Given the description of an element on the screen output the (x, y) to click on. 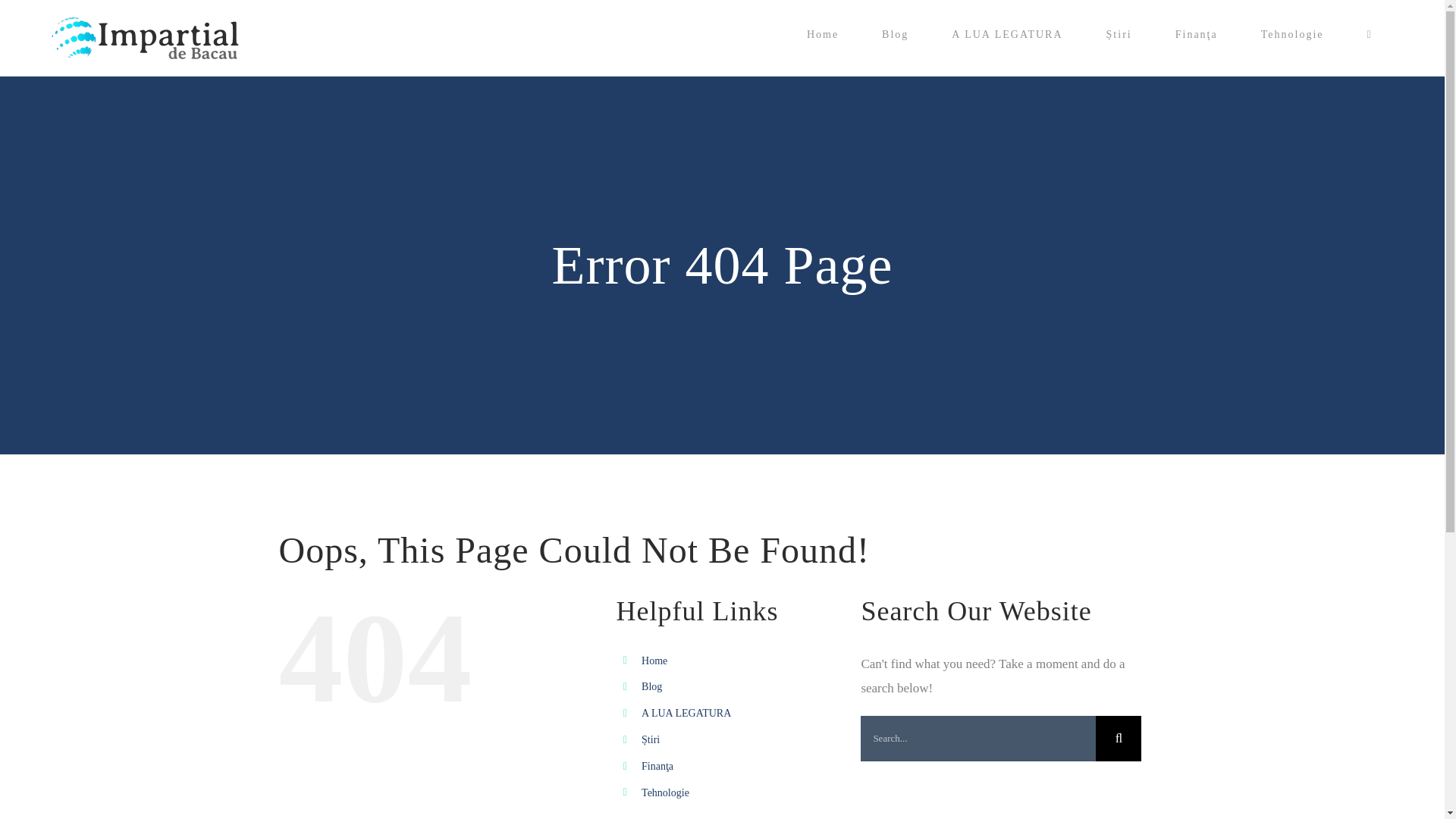
Home (822, 34)
Tehnologie (1292, 34)
A LUA LEGATURA (686, 713)
A LUA LEGATURA (1007, 34)
Blog (652, 686)
Blog (895, 34)
Tehnologie (665, 792)
Home (654, 660)
